Given the description of an element on the screen output the (x, y) to click on. 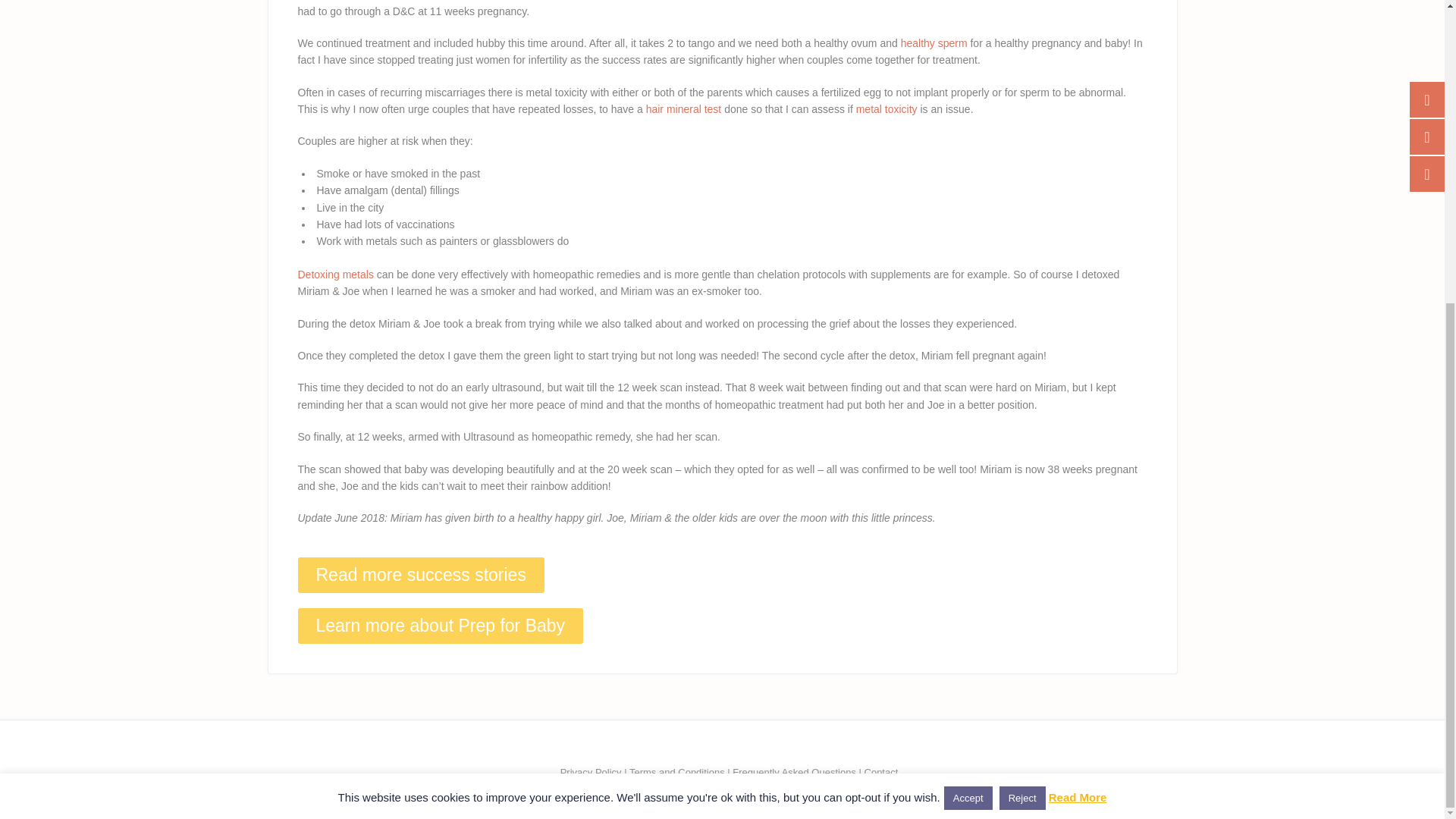
hair mineral test (684, 109)
healthy sperm (934, 42)
Detoxing metals (334, 274)
metal toxicity (886, 109)
Terms and Conditions (676, 772)
Privacy Policy (590, 772)
Read more success stories (420, 574)
Learn more about Prep for Baby (440, 625)
